Given the description of an element on the screen output the (x, y) to click on. 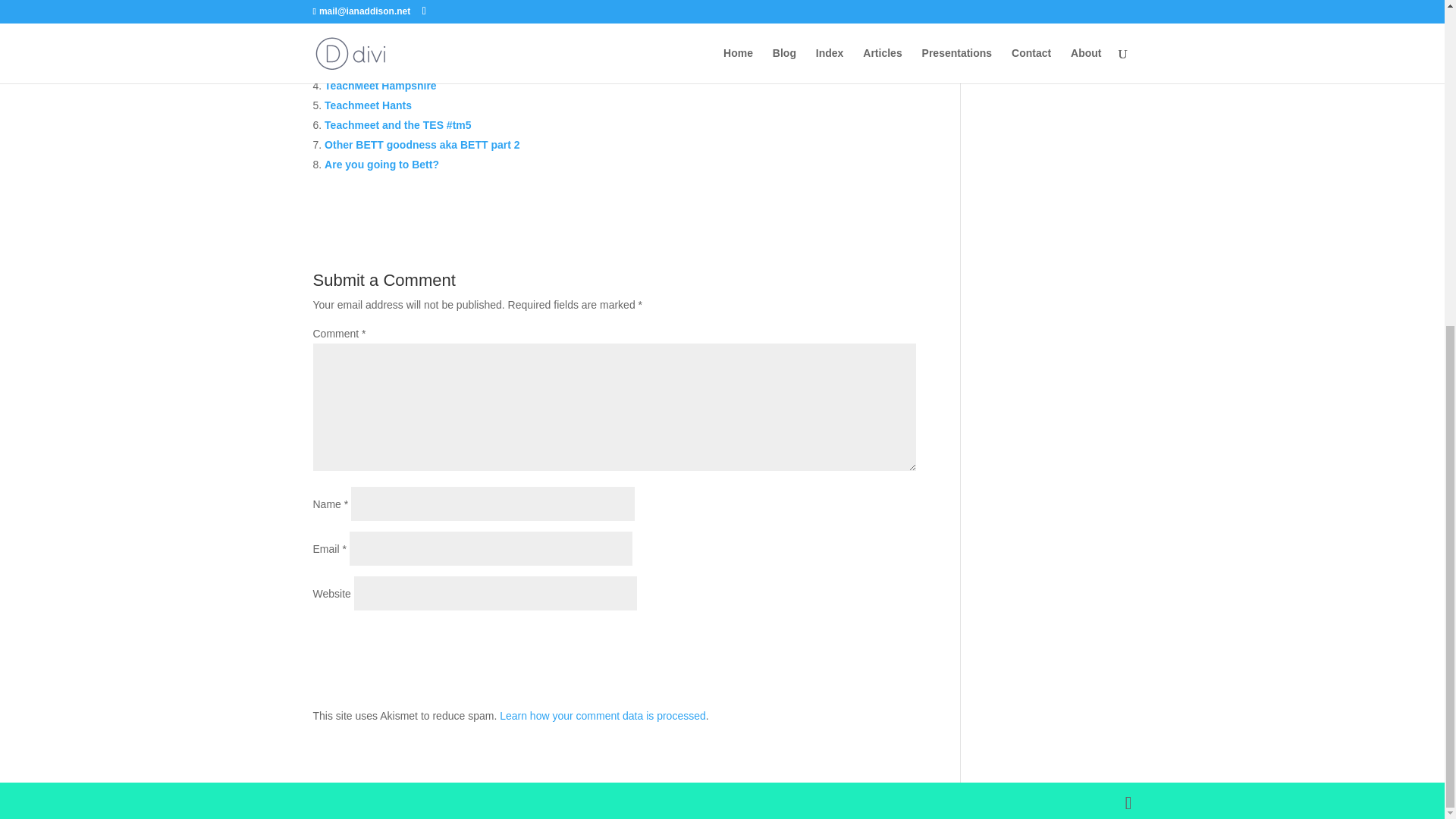
Teachmeet Takeover Bett2012 (400, 26)
Submit Comment (840, 639)
TeachMeet Hampshire (380, 85)
TeachMeet Hampshire (380, 85)
Are you going to Bett? (381, 164)
Teachmeet Takeover Bett2012 (400, 26)
Other BETT goodness aka BETT part 2 (421, 144)
Teachmeet Hants (368, 105)
Other BETT goodness aka BETT part 2 (421, 144)
Are you going to Bett? (381, 164)
